Given the description of an element on the screen output the (x, y) to click on. 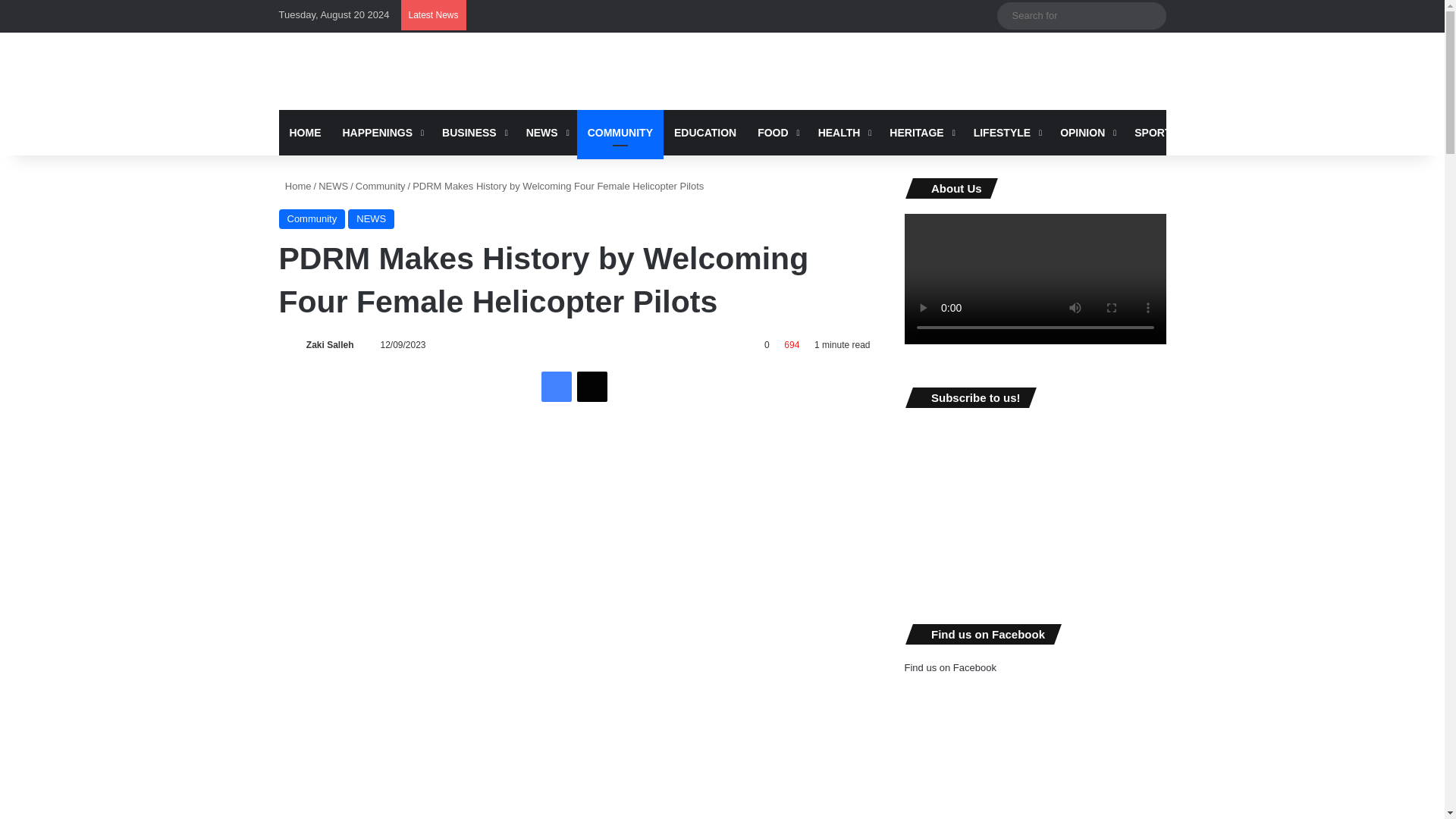
Facebook (556, 386)
Zaki Salleh (329, 344)
HOME (305, 132)
HEALTH (843, 132)
BUSINESS (472, 132)
HERITAGE (920, 132)
NEWS (545, 132)
COMMUNITY (619, 132)
EDUCATION (704, 132)
Search for (1150, 15)
